Given the description of an element on the screen output the (x, y) to click on. 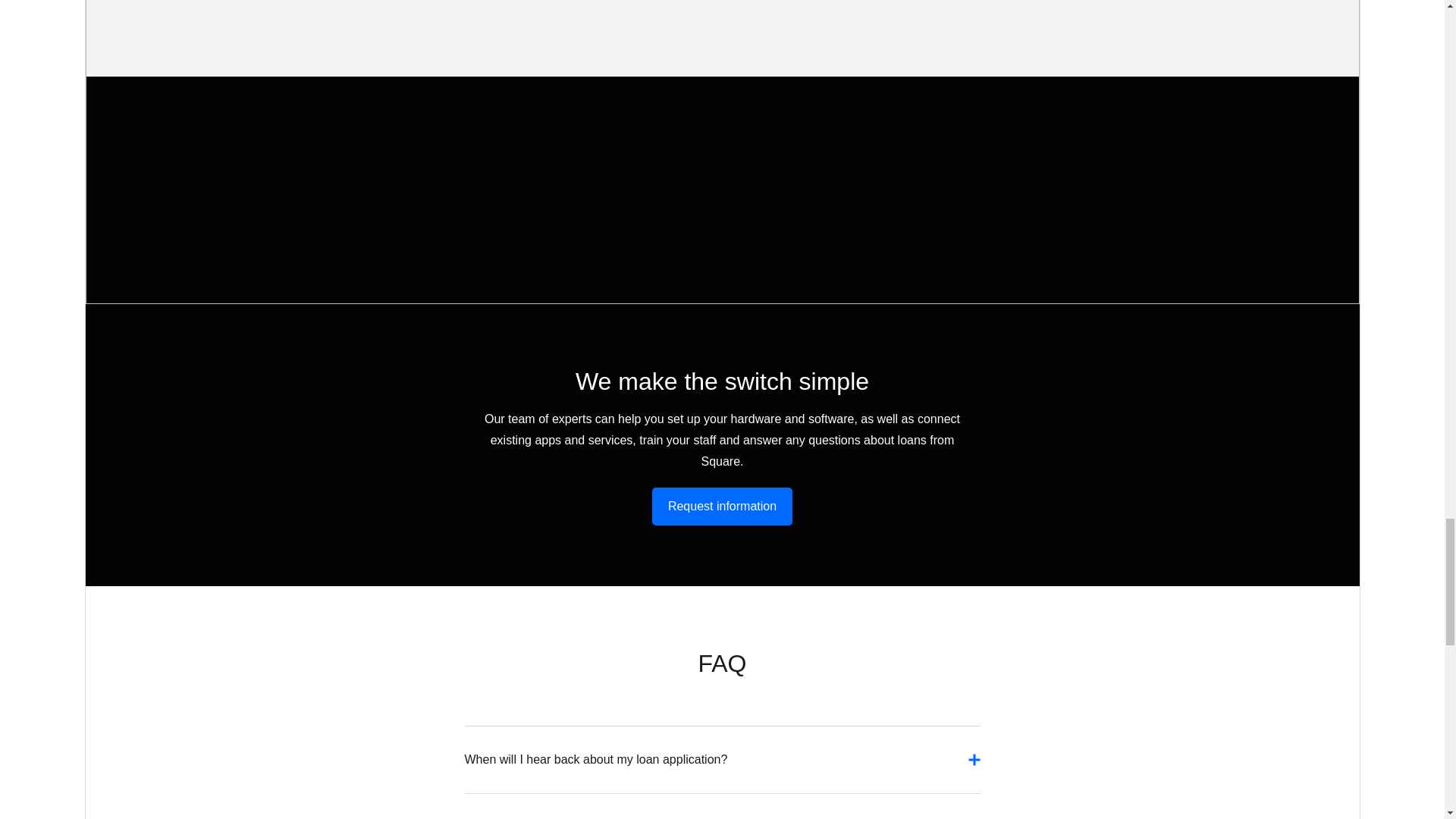
Request information (722, 506)
When will I hear back about my loan application? (721, 767)
